Given the description of an element on the screen output the (x, y) to click on. 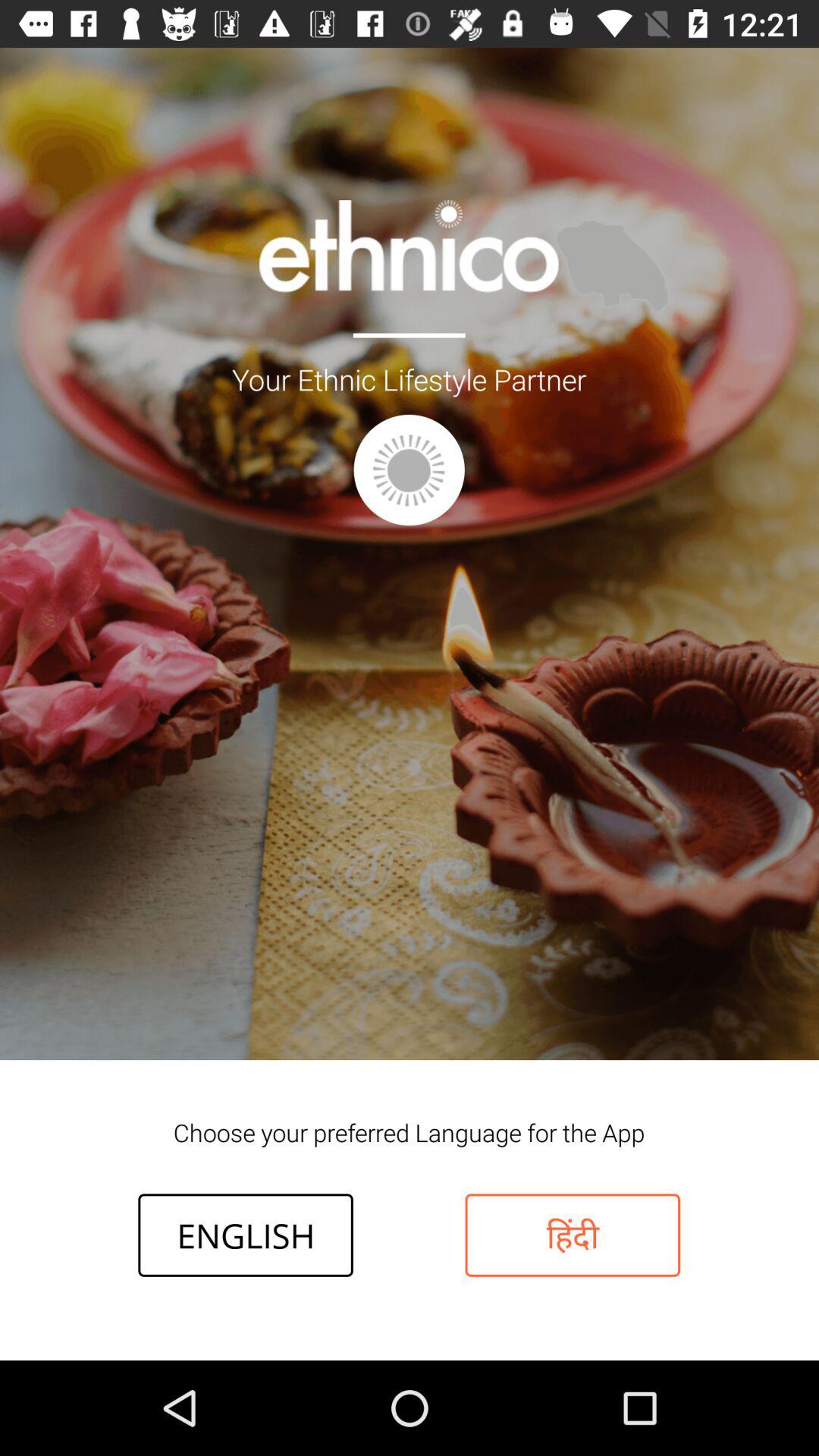
open icon below choose your preferred item (245, 1234)
